Given the description of an element on the screen output the (x, y) to click on. 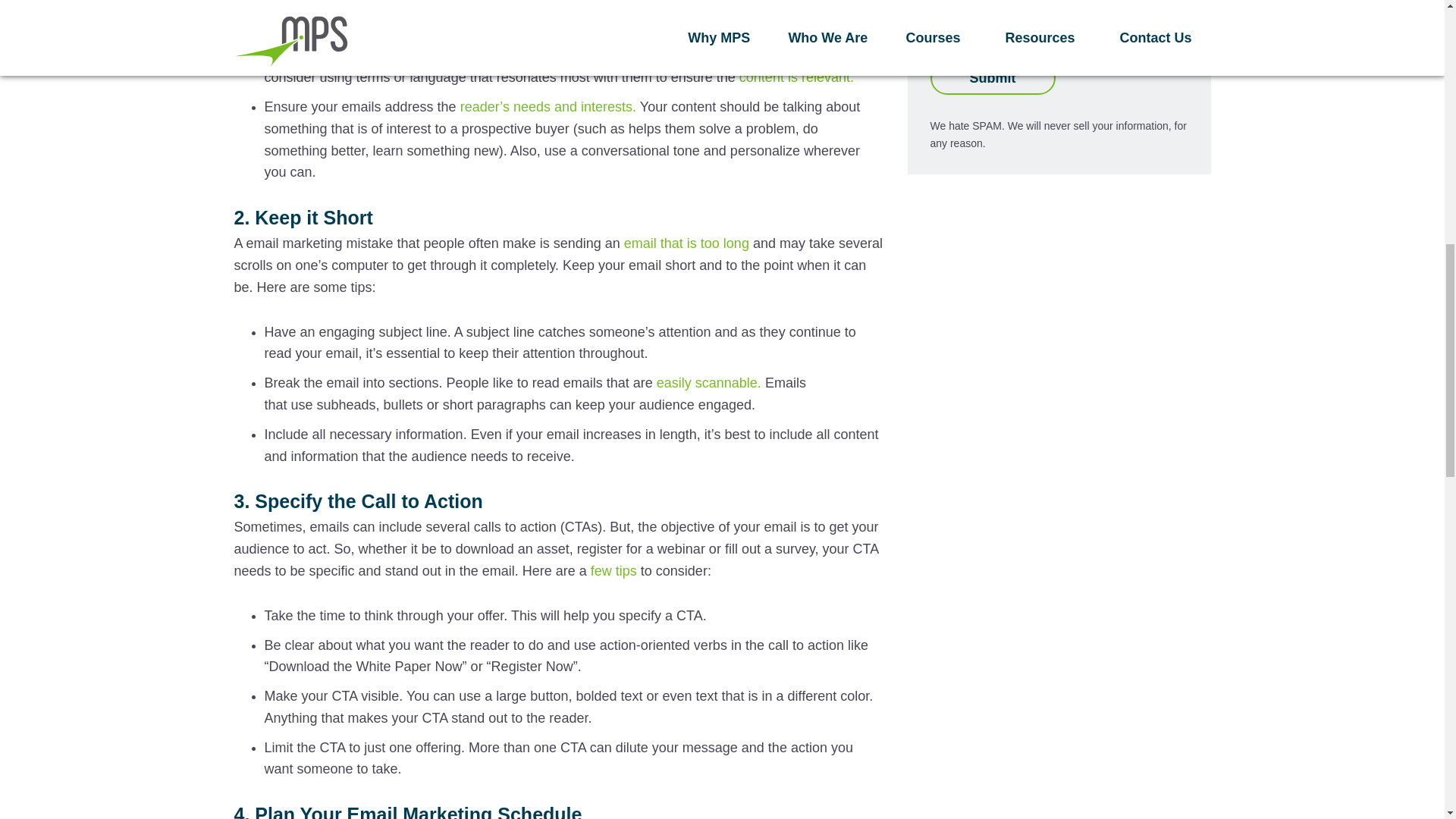
few tips (614, 570)
buyer personas (527, 55)
segmenting (318, 6)
Submit (992, 78)
email that is too long (686, 242)
content is relevant. (796, 77)
easily scannable. (708, 382)
